Given the description of an element on the screen output the (x, y) to click on. 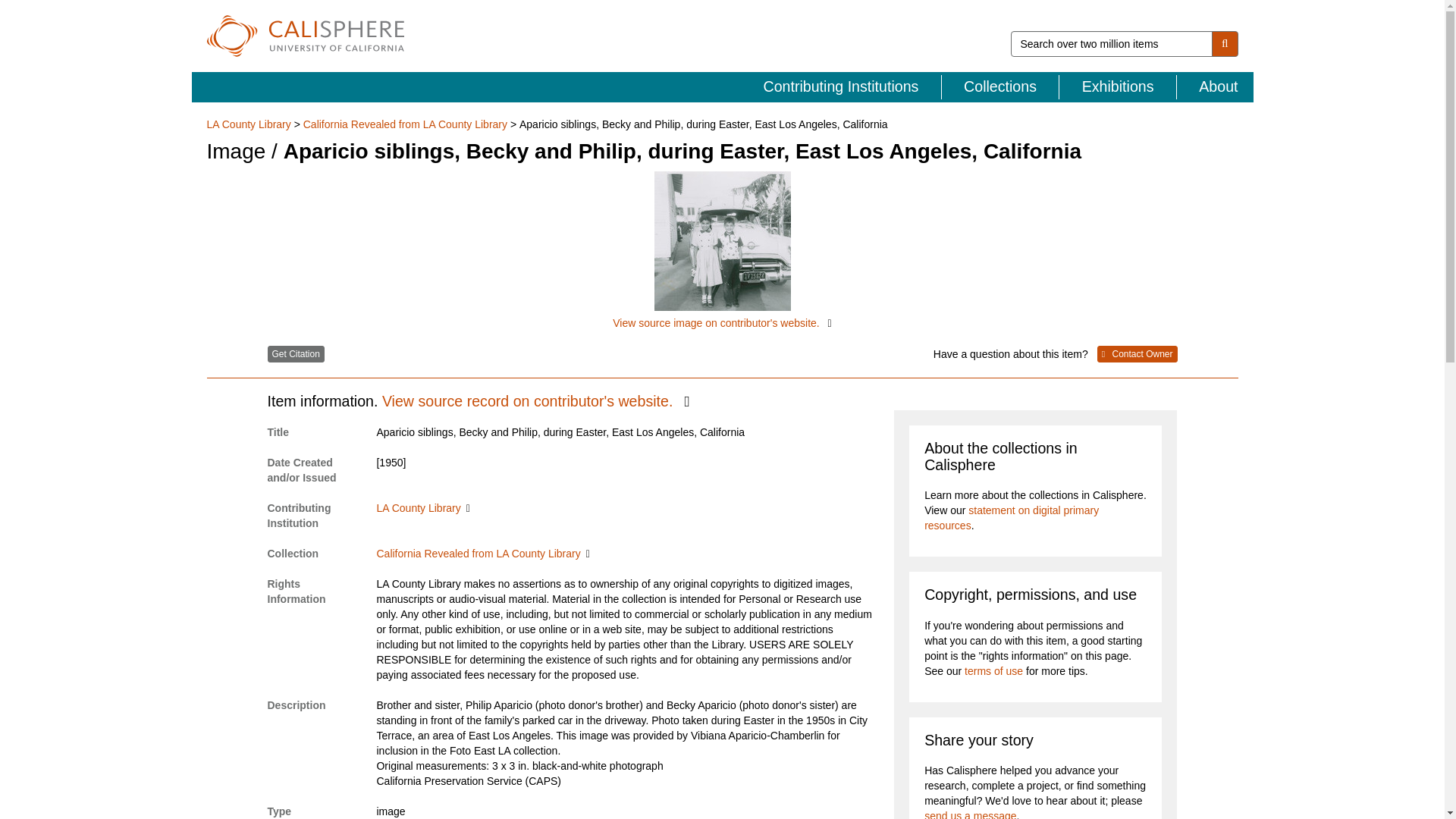
About (1214, 86)
Collections (1000, 86)
Contributing Institutions (841, 86)
View source record on contributor's website. (535, 401)
send us a message (970, 814)
California Revealed from LA County Library (482, 553)
terms of use (993, 671)
LA County Library (421, 508)
Contact Owner (1137, 353)
View source image on contributor's website. (721, 251)
statement on digital primary resources (1011, 517)
California Revealed from LA County Library (404, 123)
Get Citation (294, 353)
Exhibitions (1117, 86)
LA County Library (250, 123)
